Given the description of an element on the screen output the (x, y) to click on. 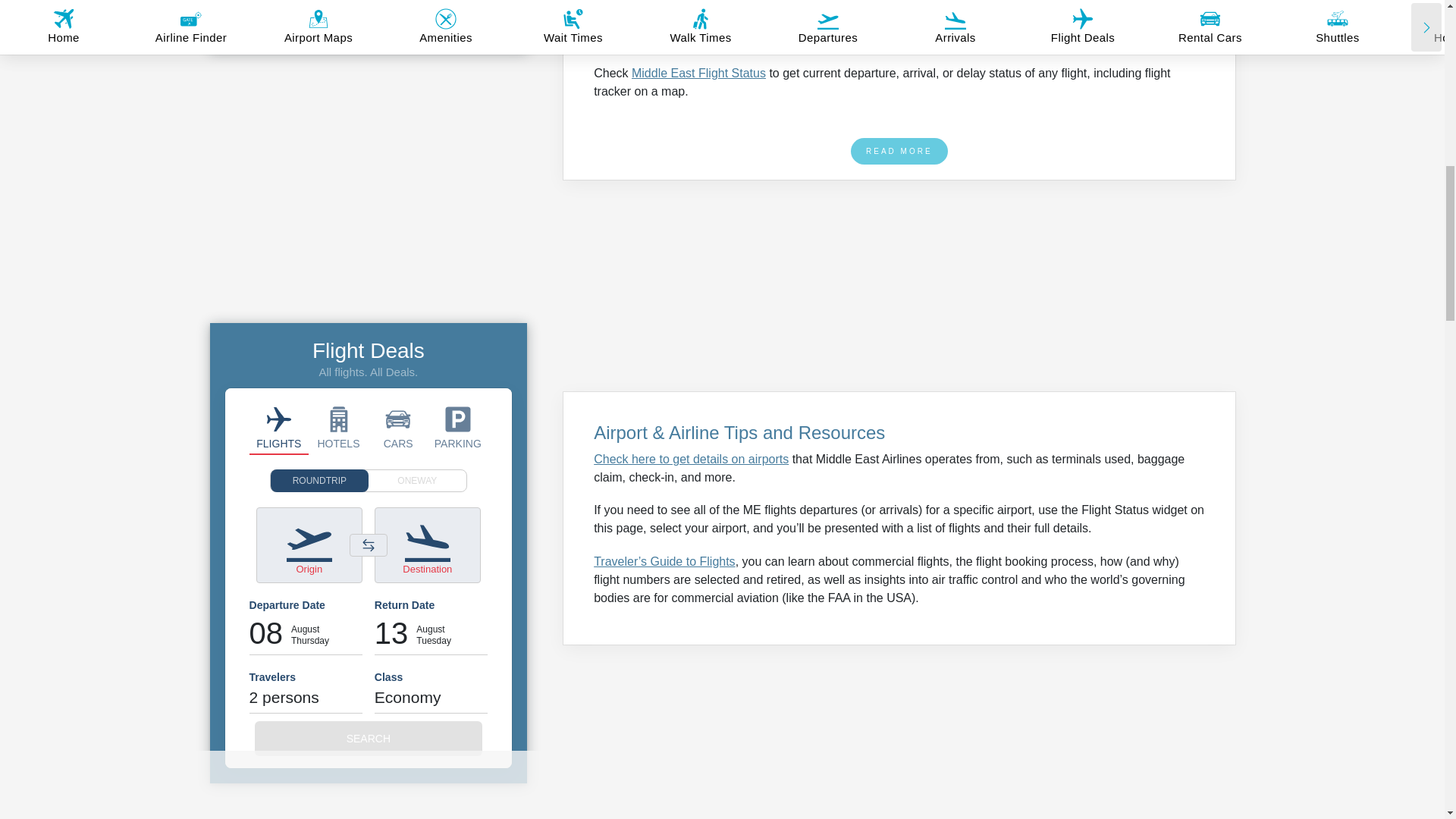
 Flight Deals (278, 427)
Hotel Deals (338, 427)
Off-Airport Parking (457, 427)
Airport Rental Cars (398, 427)
